Given the description of an element on the screen output the (x, y) to click on. 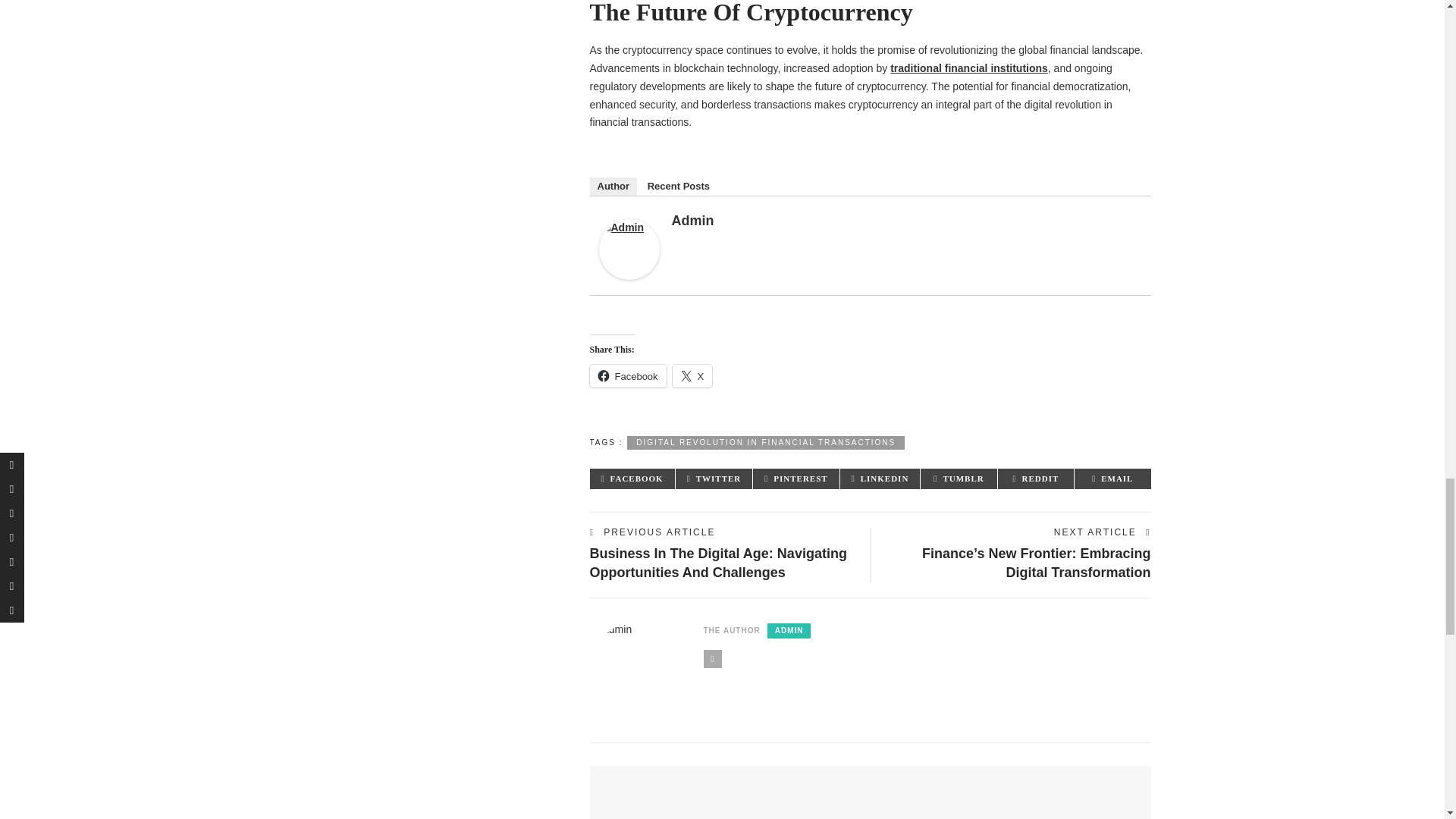
Click to share on Facebook (627, 375)
Admin (628, 249)
Click to share on X (692, 375)
